Given the description of an element on the screen output the (x, y) to click on. 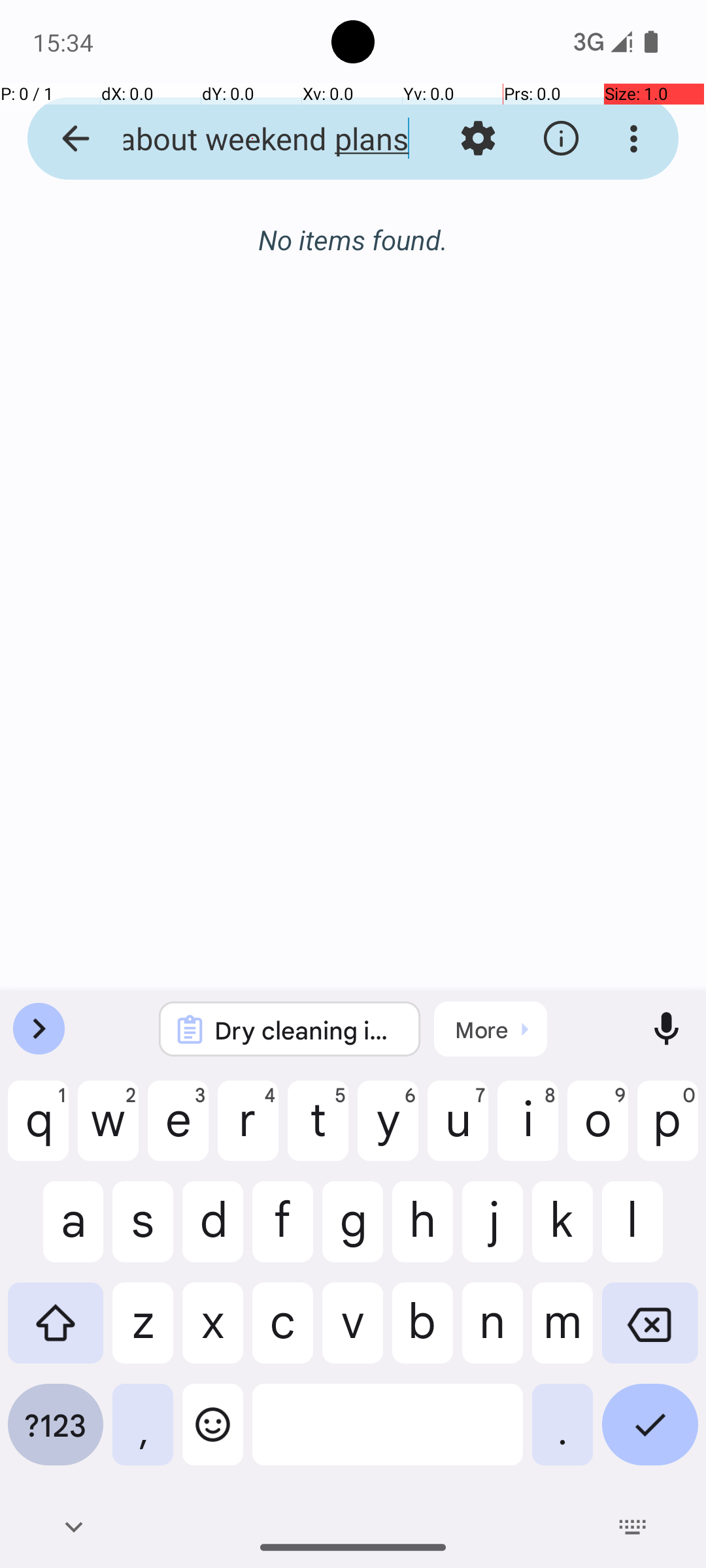
conversation about weekend plans Element type: android.widget.EditText (252, 138)
No stored conversations have been found Element type: android.widget.TextView (353, 246)
Start a conversation Element type: android.widget.TextView (352, 311)
